Given the description of an element on the screen output the (x, y) to click on. 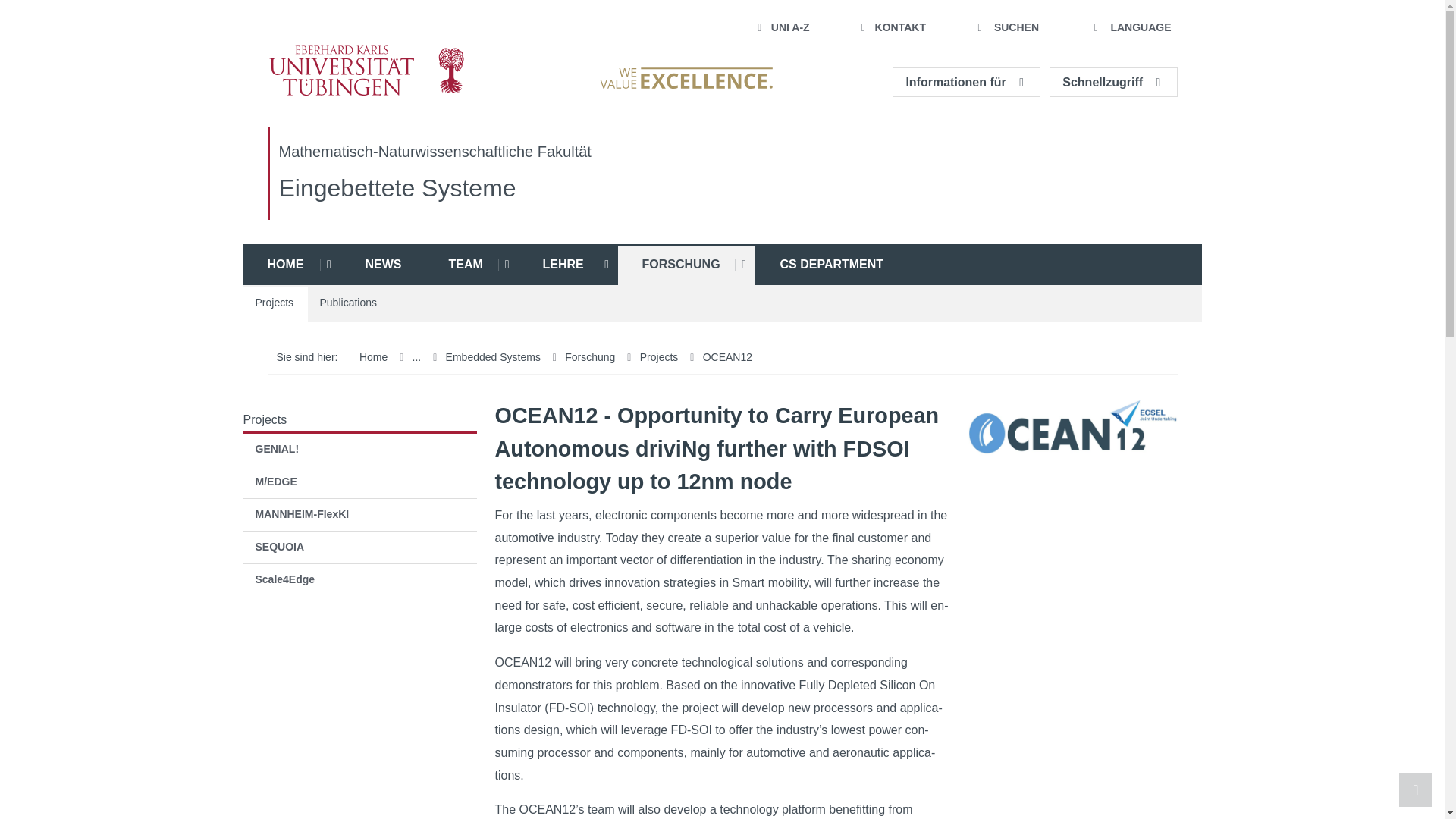
Eingebettete Systeme (397, 187)
HOME (276, 264)
LANGUAGE (1130, 28)
Search (1006, 28)
UNI A-Z (782, 28)
Language (1130, 28)
SUCHEN (1006, 28)
Schnellzugriff (1112, 82)
KONTAKT (892, 28)
